Given the description of an element on the screen output the (x, y) to click on. 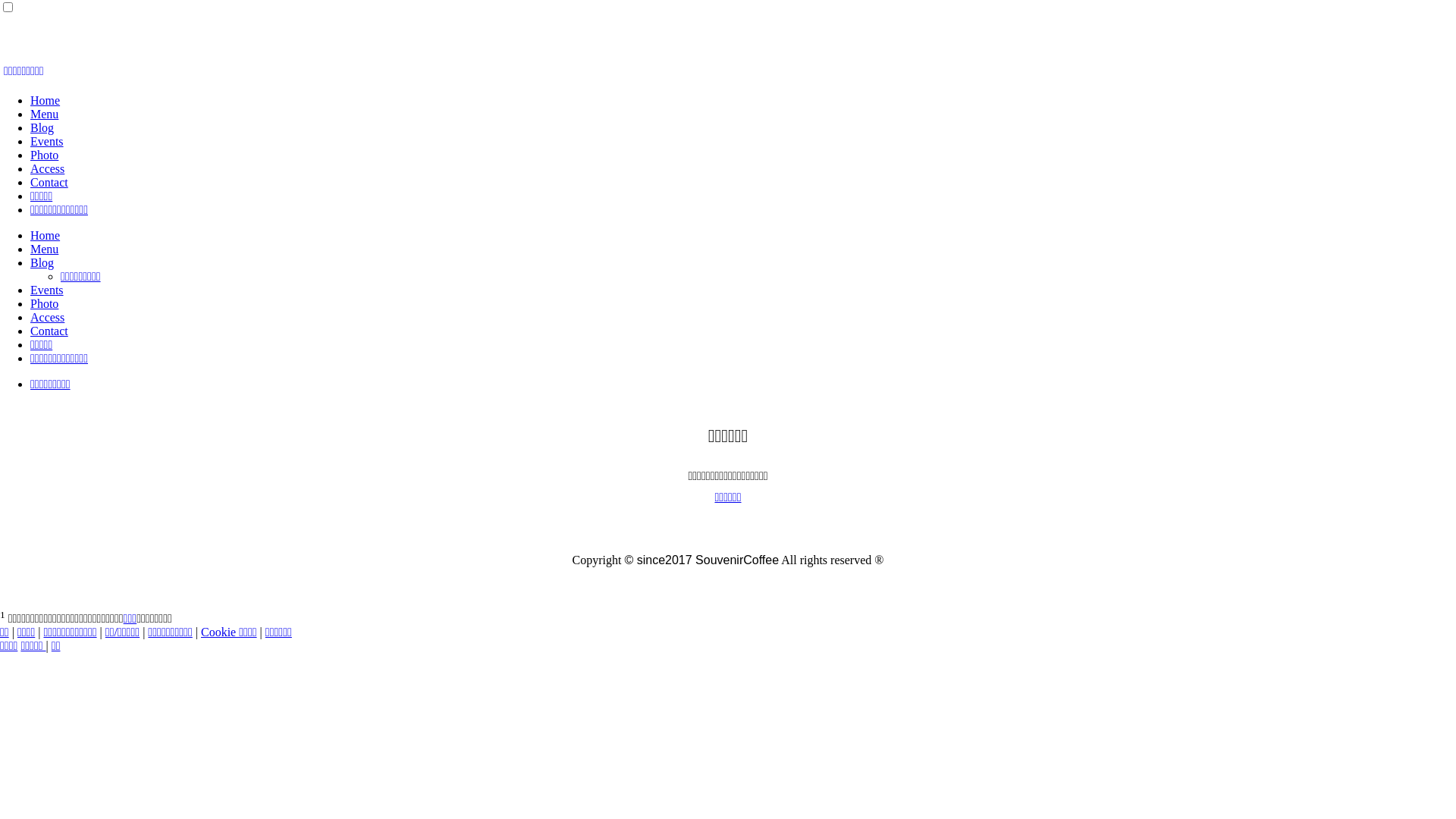
Photo Element type: text (44, 154)
Contact Element type: text (49, 181)
Contact Element type: text (49, 330)
Menu Element type: text (44, 113)
Menu Element type: text (44, 248)
Blog Element type: text (41, 127)
Events Element type: text (46, 289)
Access Element type: text (47, 168)
Home Element type: text (44, 100)
Home Element type: text (44, 235)
Access Element type: text (47, 316)
Photo Element type: text (44, 303)
Events Element type: text (46, 140)
Blog Element type: text (41, 262)
